Given the description of an element on the screen output the (x, y) to click on. 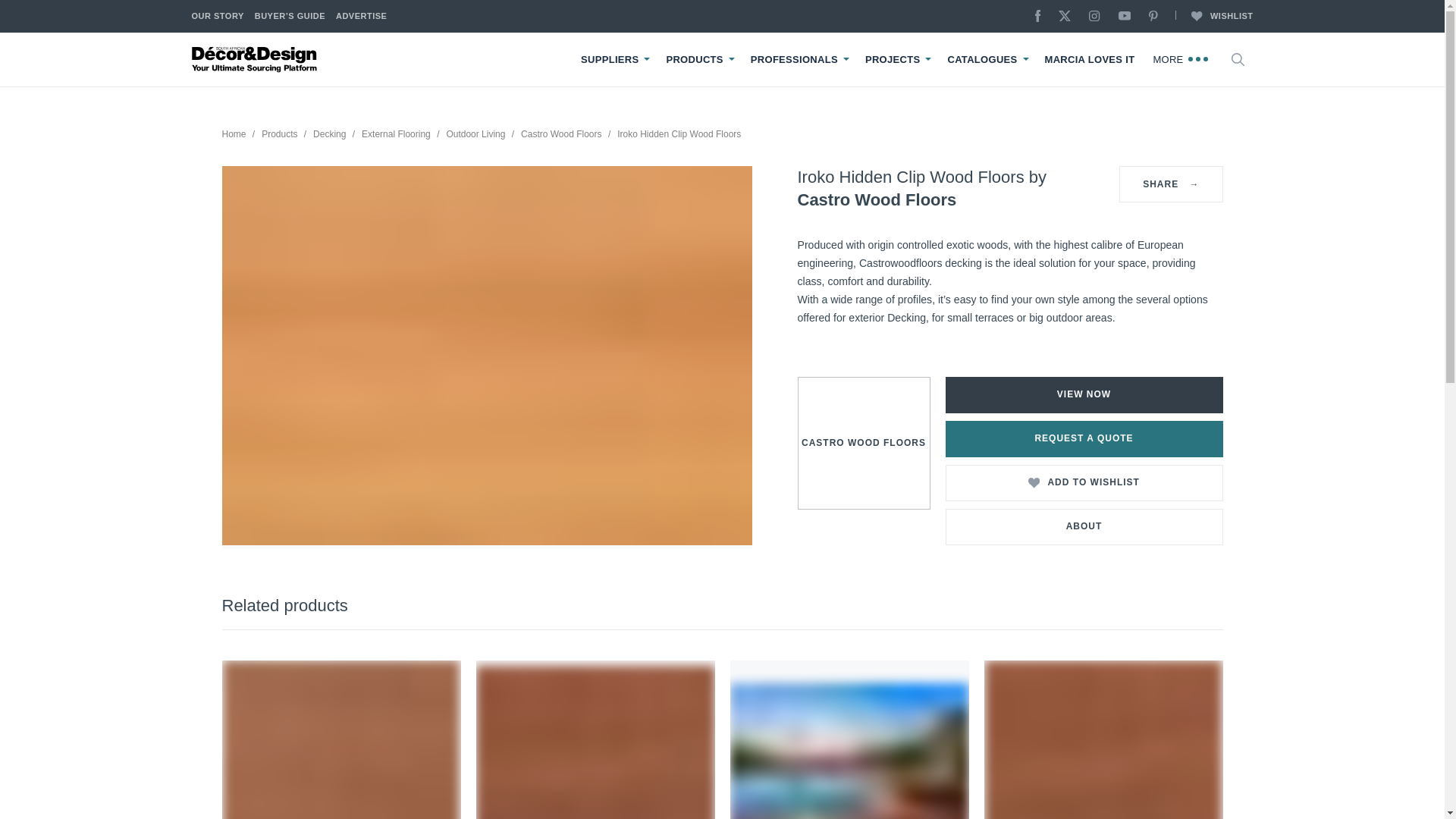
Facebook (1041, 16)
Instagram (1097, 16)
WISHLIST (1213, 16)
X (1068, 16)
Add to wishlist (1036, 482)
ADVERTISE (361, 16)
Logo (255, 58)
Youtube (1127, 16)
SUPPLIERS (609, 60)
Pinterest (1157, 16)
OUR STORY (216, 16)
